Given the description of an element on the screen output the (x, y) to click on. 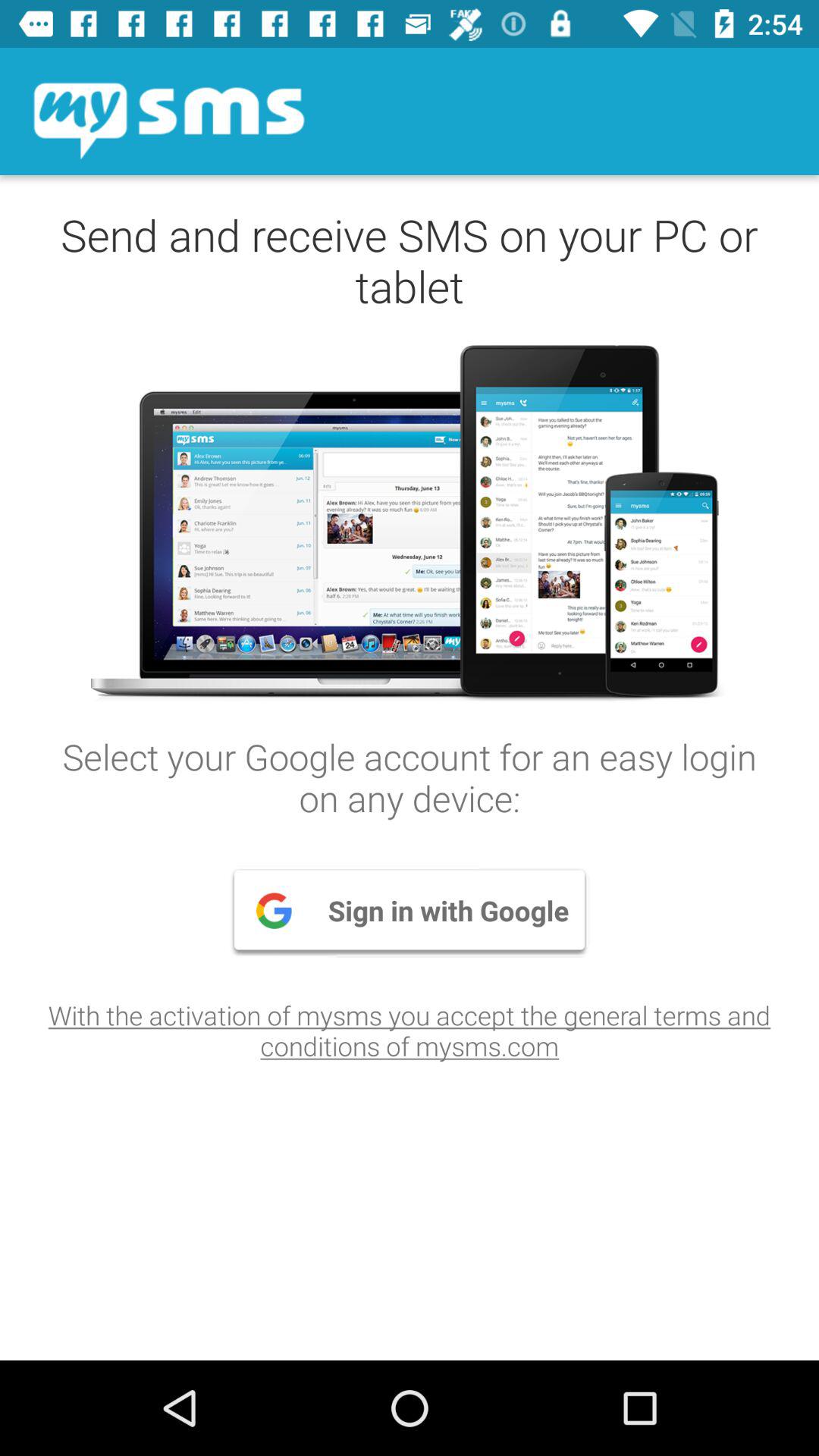
turn on the sign in with item (409, 909)
